Given the description of an element on the screen output the (x, y) to click on. 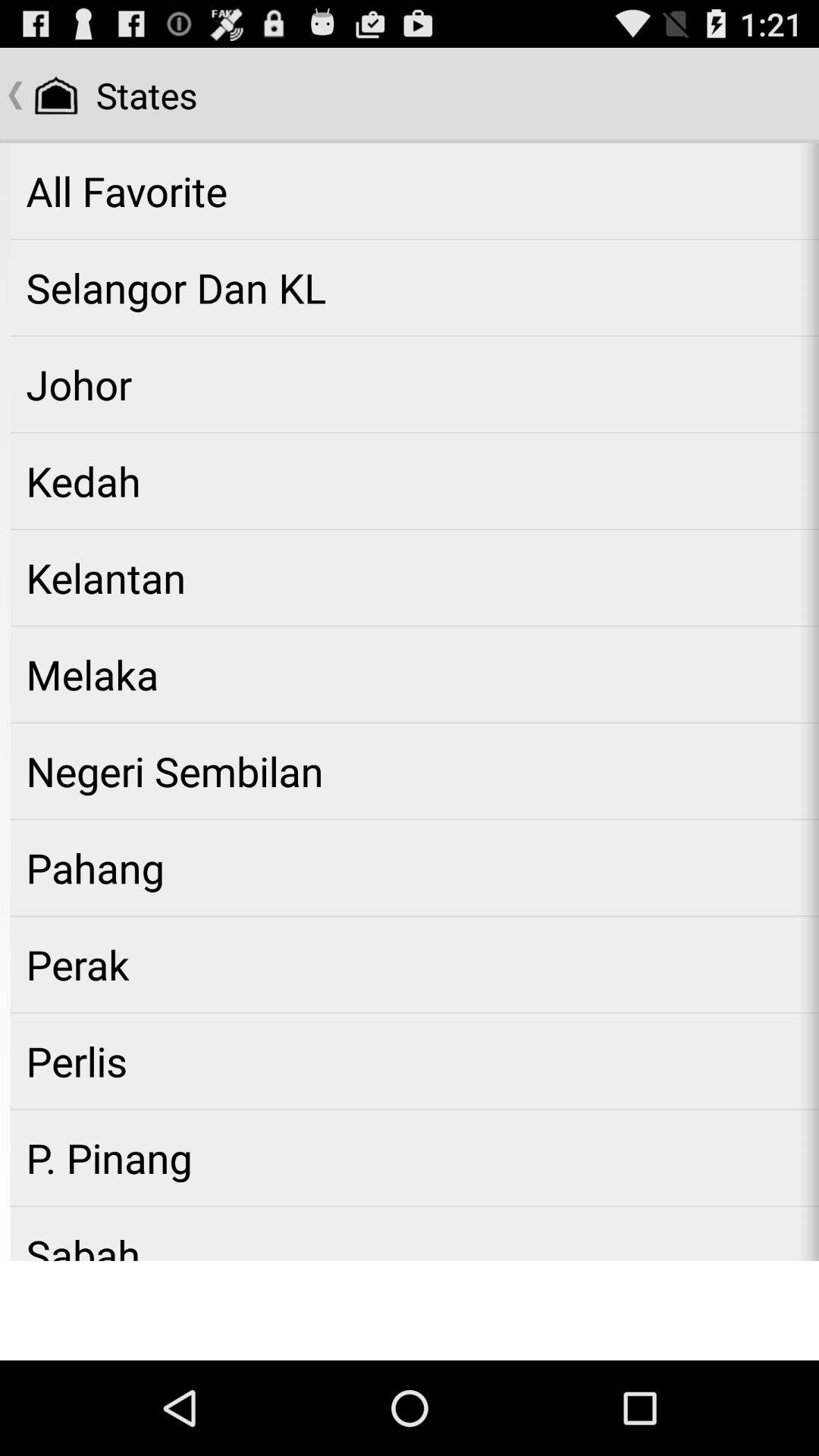
open the item below the kelantan (414, 674)
